Given the description of an element on the screen output the (x, y) to click on. 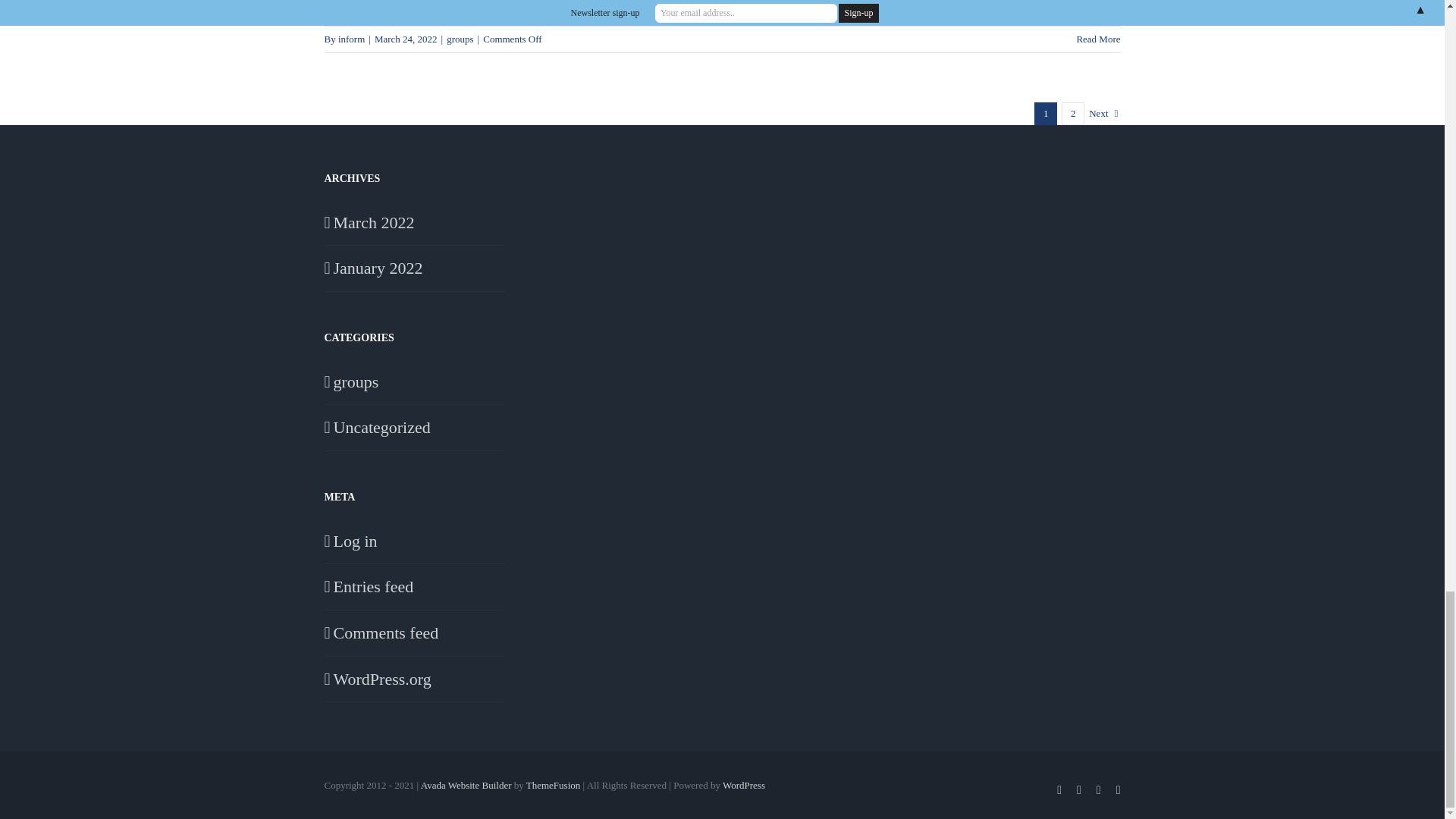
Posts by inform (351, 39)
